Given the description of an element on the screen output the (x, y) to click on. 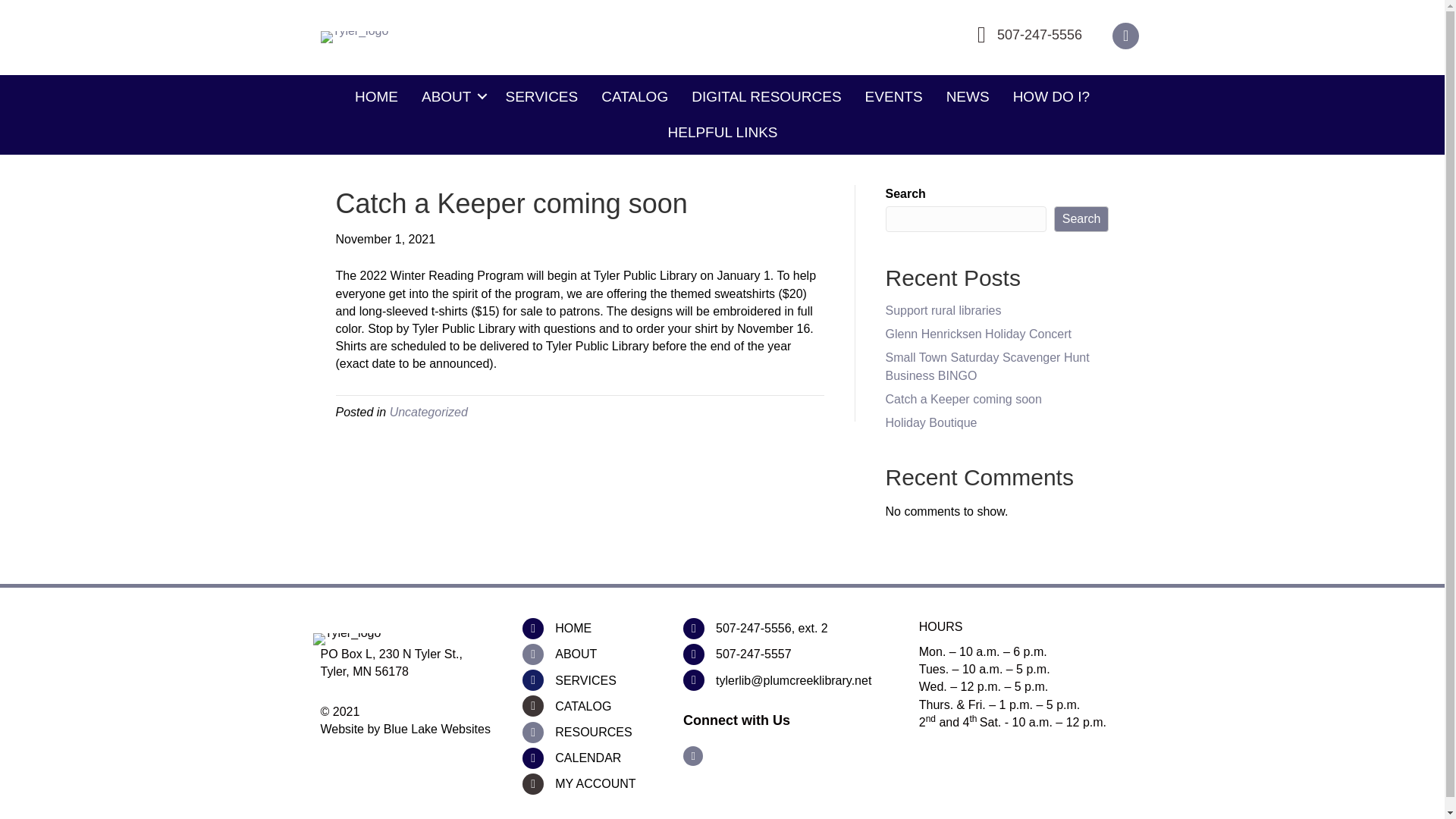
HOME (376, 96)
HELPFUL LINKS (722, 132)
Catch a Keeper coming soon (963, 399)
EVENTS (893, 96)
CATALOG (582, 705)
Glenn Henricksen Holiday Concert (978, 333)
CATALOG (634, 96)
HOME (572, 628)
ABOUT (451, 96)
Holiday Boutique (930, 422)
Website by Blue Lake Websites (404, 728)
507-247-5556 (1039, 35)
SERVICES (541, 96)
ABOUT (575, 653)
HOW DO I? (1050, 96)
